Given the description of an element on the screen output the (x, y) to click on. 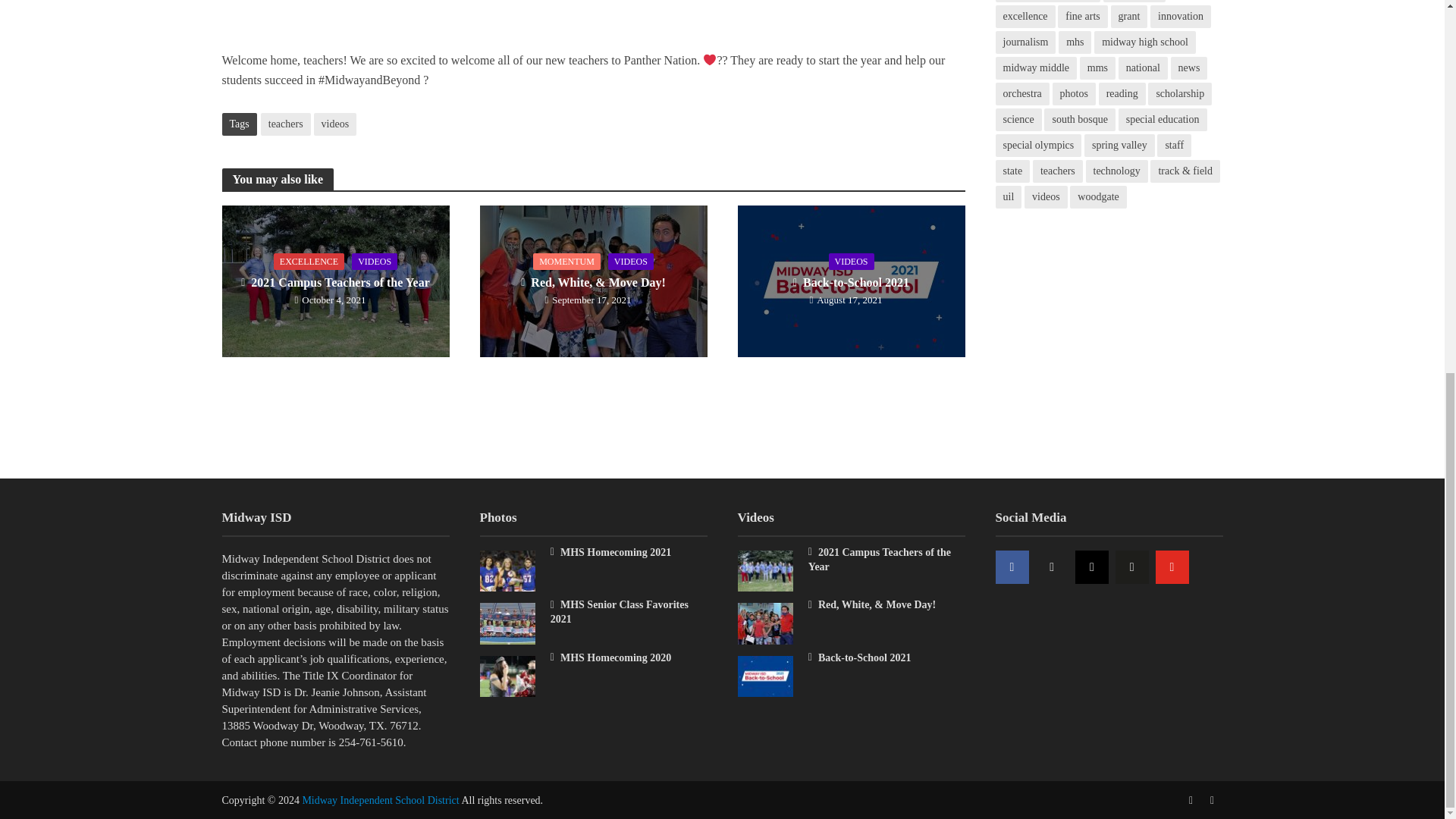
videos (335, 124)
teachers (285, 124)
VIDEOS (374, 261)
Back-to-School 2021 (849, 279)
MHS Homecoming 2021 (506, 569)
2021 Campus Teachers of the Year (334, 279)
MHS Senior Class Favorites 2021 (506, 622)
Back-to-School 2021 (764, 674)
MHS Homecoming 2020 (506, 674)
Instagram (1091, 566)
